Given the description of an element on the screen output the (x, y) to click on. 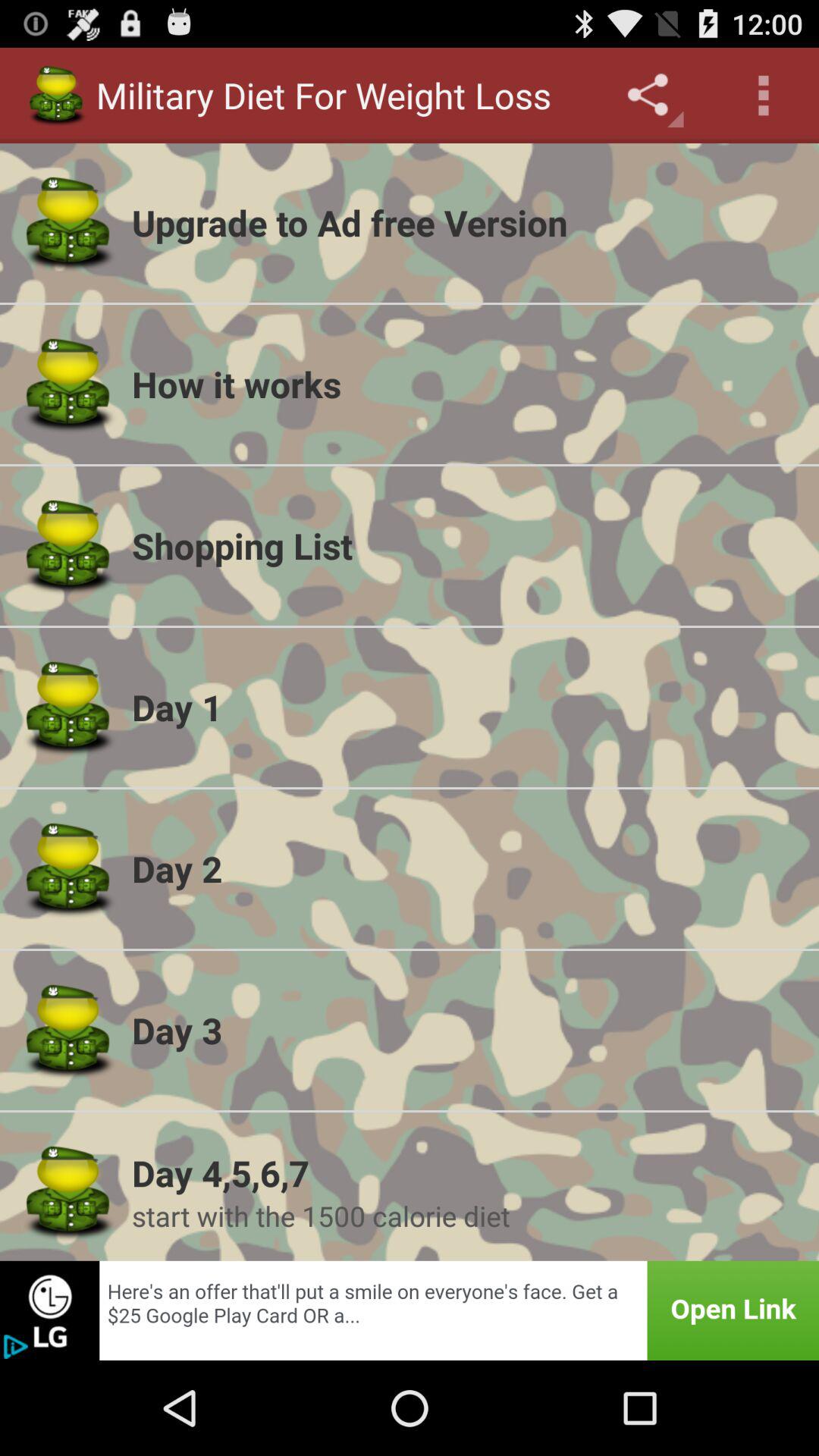
choose the day 4 5 icon (465, 1172)
